Given the description of an element on the screen output the (x, y) to click on. 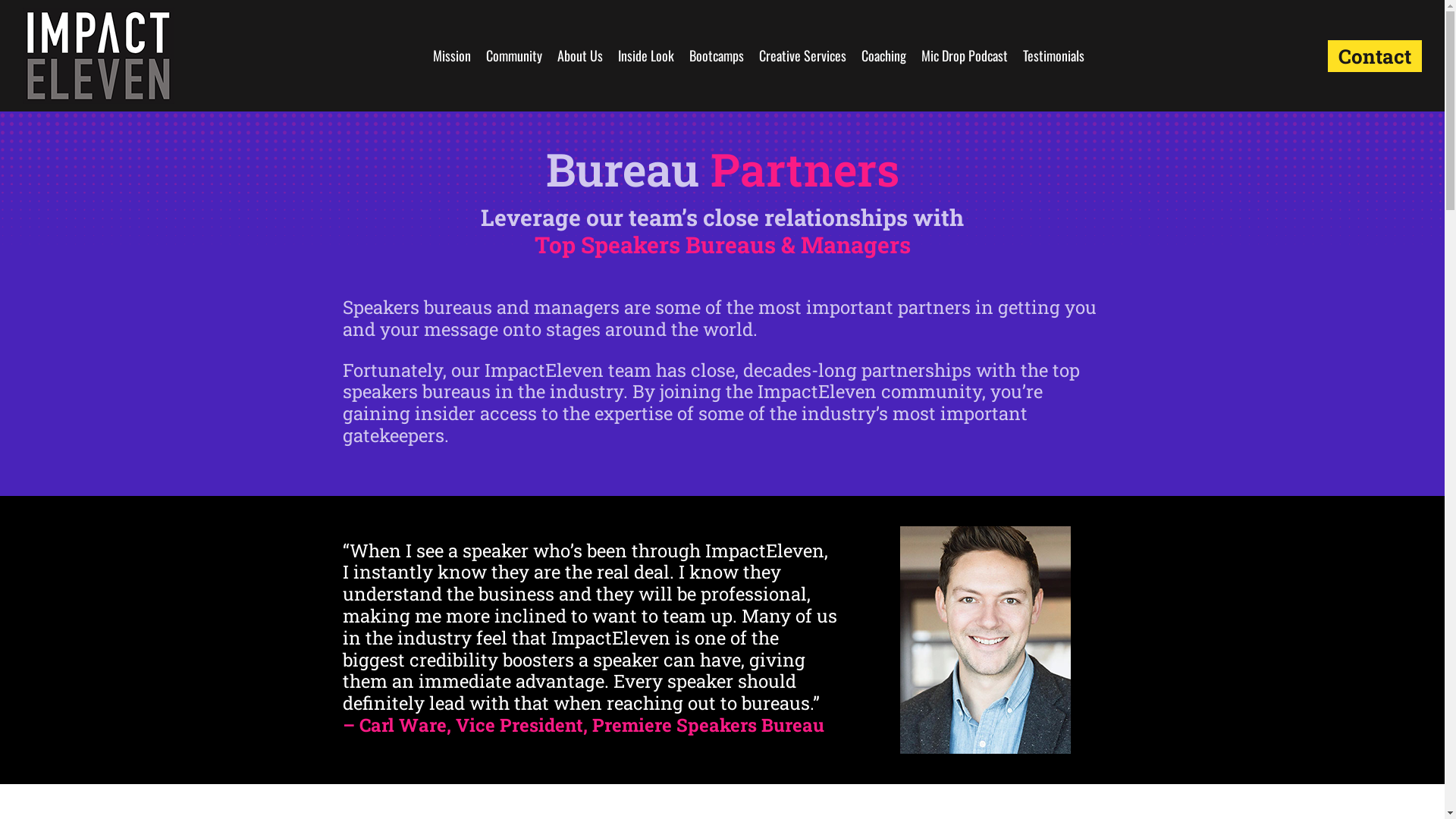
Community Element type: text (513, 55)
Mic Drop Podcast Element type: text (964, 55)
Coaching Element type: text (883, 55)
Contact Element type: text (1374, 55)
Testimonials Element type: text (1053, 55)
Bootcamps Element type: text (716, 55)
Creative Services Element type: text (802, 55)
Inside Look Element type: text (645, 55)
About Us Element type: text (579, 55)
Mission Element type: text (451, 55)
carl-ware Element type: hover (985, 639)
